Given the description of an element on the screen output the (x, y) to click on. 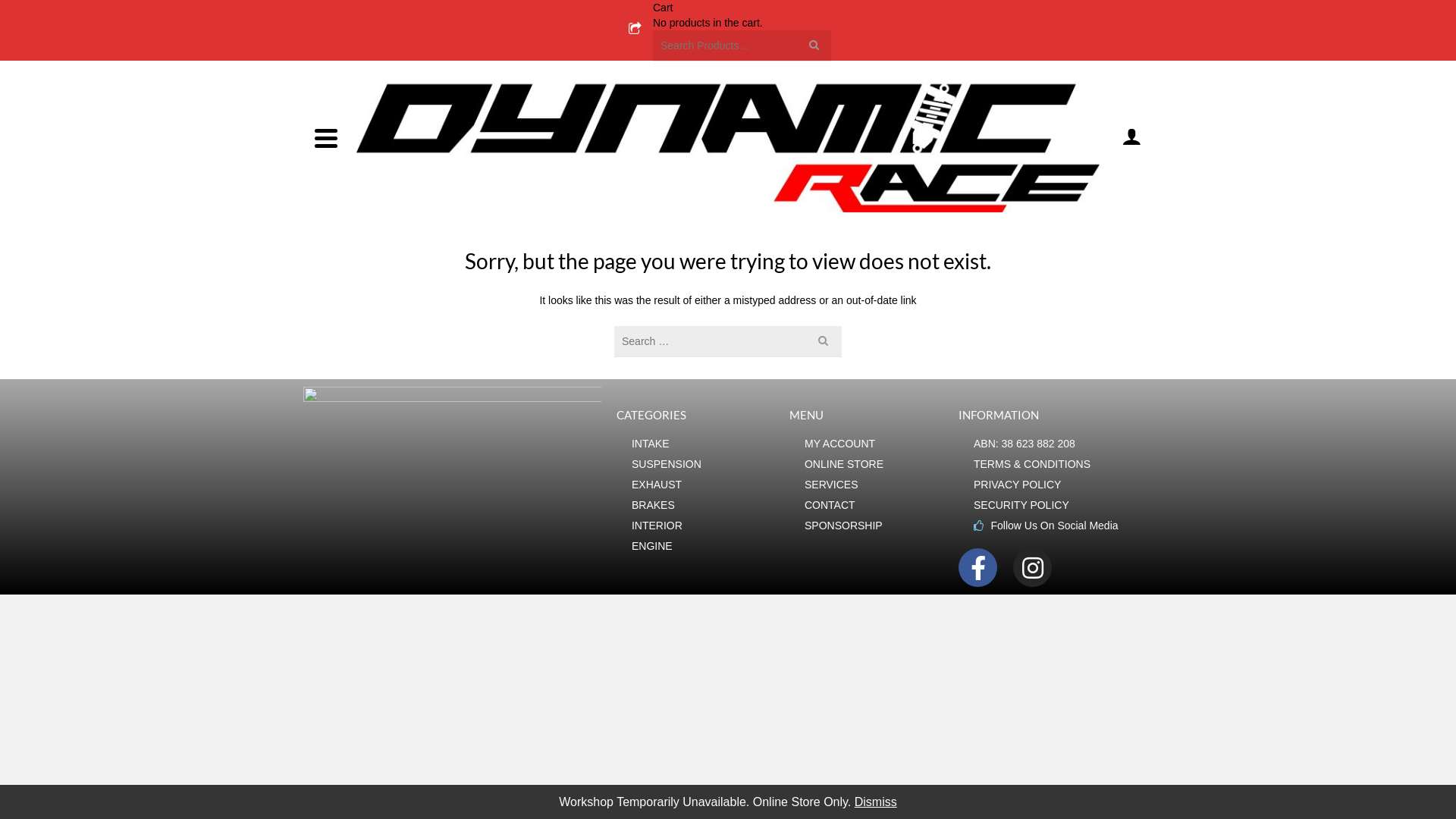
Search for: Element type: hover (741, 45)
SPONSORSHIP Element type: text (873, 525)
TERMS & CONDITIONS Element type: text (1062, 463)
SUSPENSION Element type: text (702, 463)
SERVICES Element type: text (873, 484)
PRIVACY POLICY Element type: text (1062, 484)
ENGINE Element type: text (702, 545)
BRAKES Element type: text (702, 504)
Dismiss Element type: text (875, 801)
MY ACCOUNT Element type: text (873, 443)
INTAKE Element type: text (702, 443)
ONLINE STORE Element type: text (873, 463)
SECURITY POLICY Element type: text (1062, 504)
INTERIOR Element type: text (702, 525)
EXHAUST Element type: text (702, 484)
CONTACT Element type: text (873, 504)
